Given the description of an element on the screen output the (x, y) to click on. 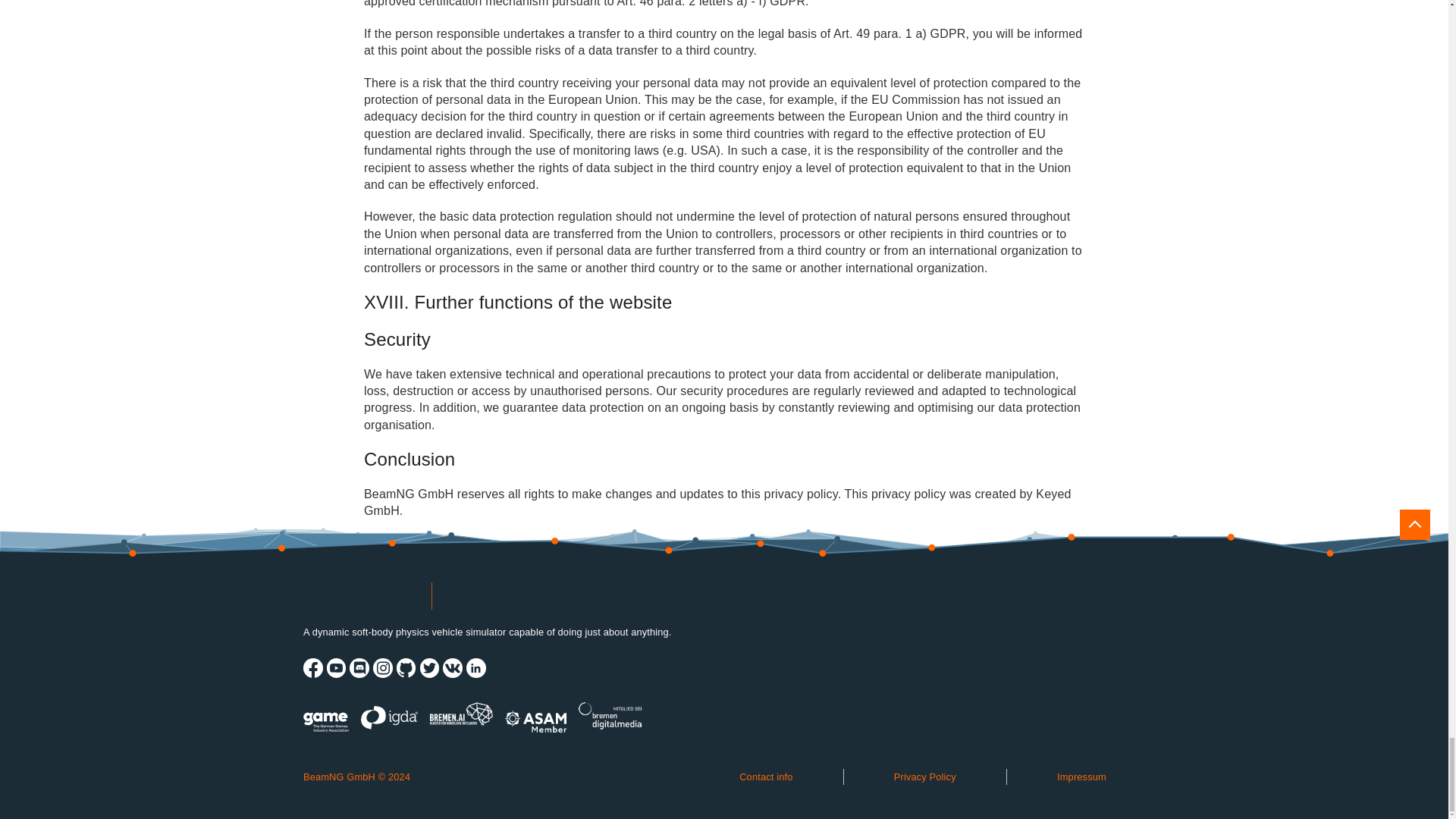
German Games Industry Association (325, 716)
Twitter (429, 668)
Instagram (382, 668)
International Game Developers Association (389, 716)
BeamNG.tech (499, 595)
GitHub (406, 668)
Discord (359, 668)
VK (452, 668)
LinkedIn (475, 668)
